Given the description of an element on the screen output the (x, y) to click on. 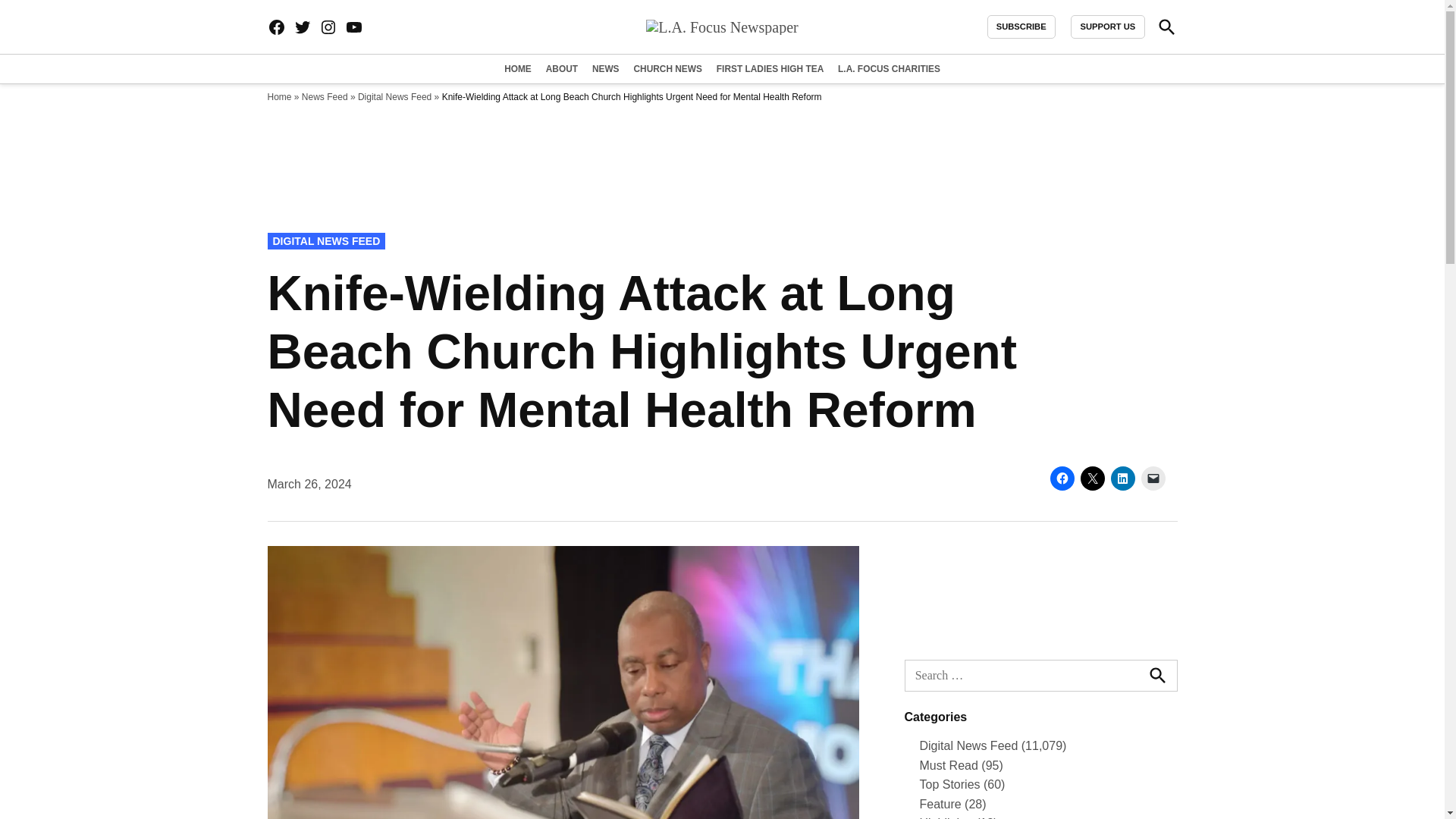
L.A. FOCUS CHARITIES (887, 68)
L.A. Focus Newspaper (1025, 37)
Click to share on X (1091, 478)
ABOUT (560, 68)
SUBSCRIBE (1021, 26)
YouTube (352, 27)
Facebook Page (275, 27)
Twitter (301, 27)
Instagram (327, 27)
HOME (519, 68)
